Given the description of an element on the screen output the (x, y) to click on. 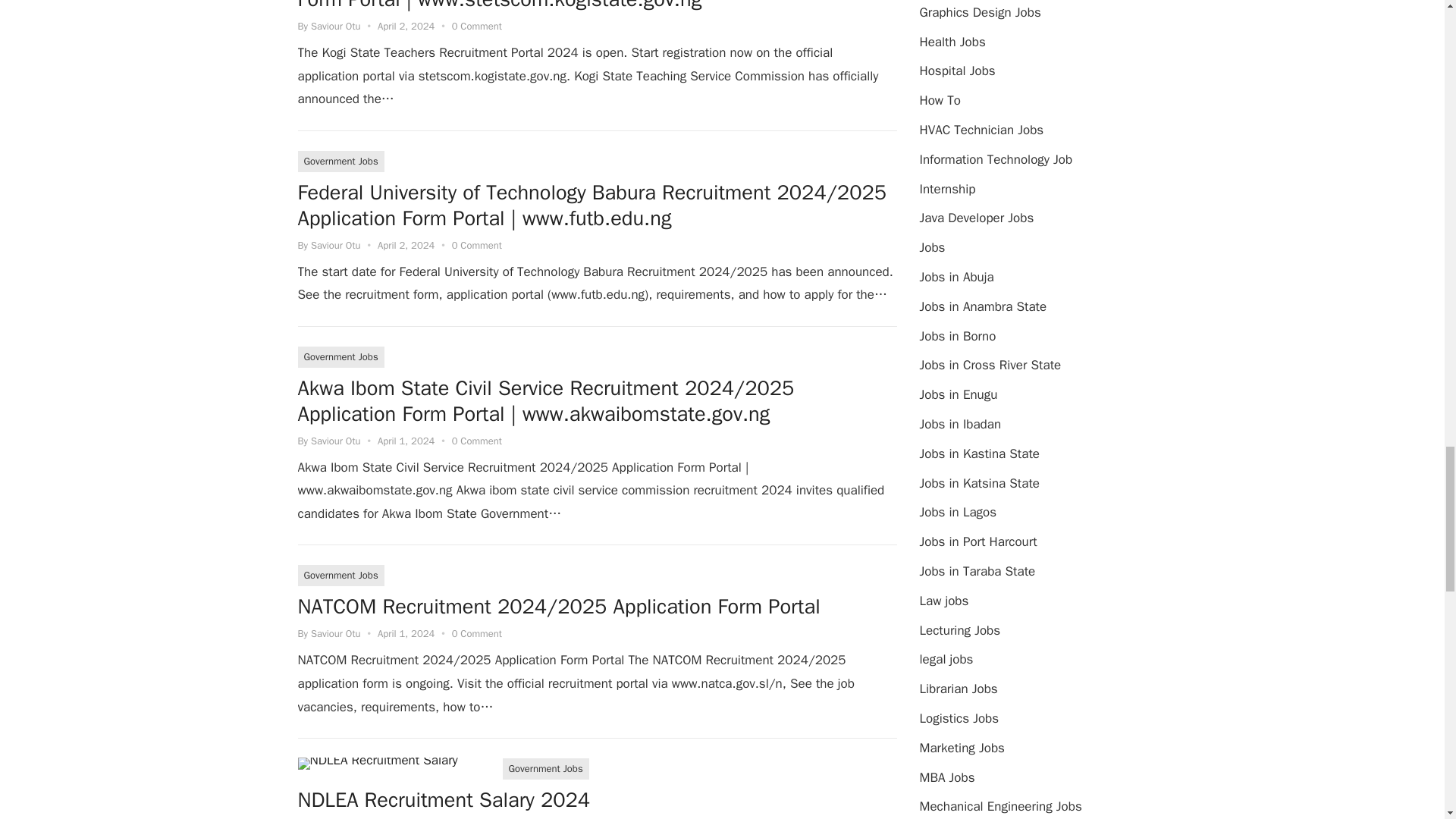
Government Jobs (340, 160)
Posts by Saviour Otu (336, 245)
0 Comment (476, 245)
Posts by Saviour Otu (336, 633)
Saviour Otu (336, 25)
Posts by Saviour Otu (336, 25)
Posts by Saviour Otu (336, 440)
0 Comment (476, 25)
Saviour Otu (336, 245)
